Given the description of an element on the screen output the (x, y) to click on. 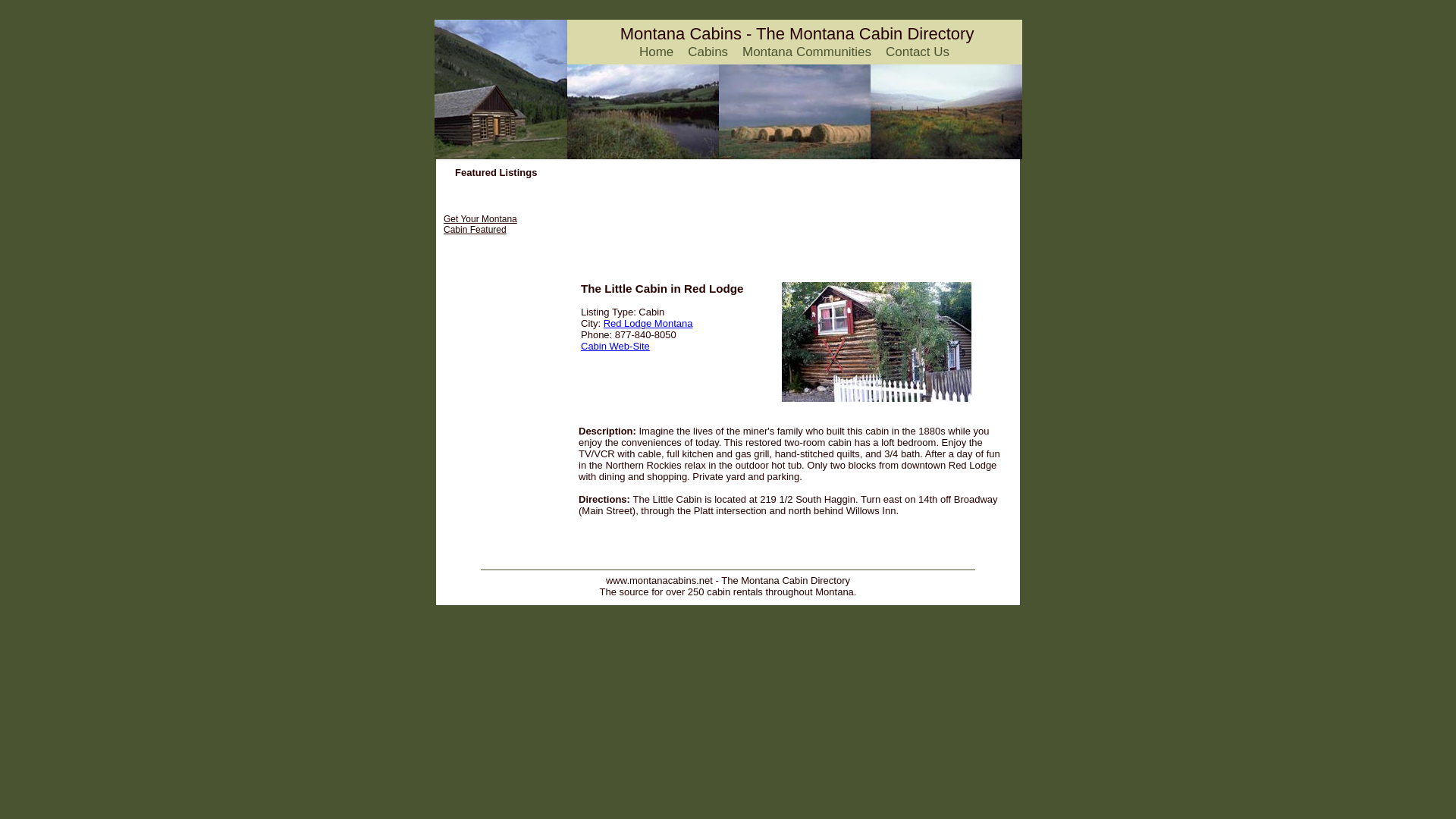
Advertisement (480, 224)
Contact Us (491, 396)
Cabins (917, 51)
Cabin Web-Site (707, 51)
Home (614, 346)
Montana Communities (655, 51)
Montana Cabins (806, 51)
Advertisement (680, 33)
Red Lodge Montana (753, 244)
